Given the description of an element on the screen output the (x, y) to click on. 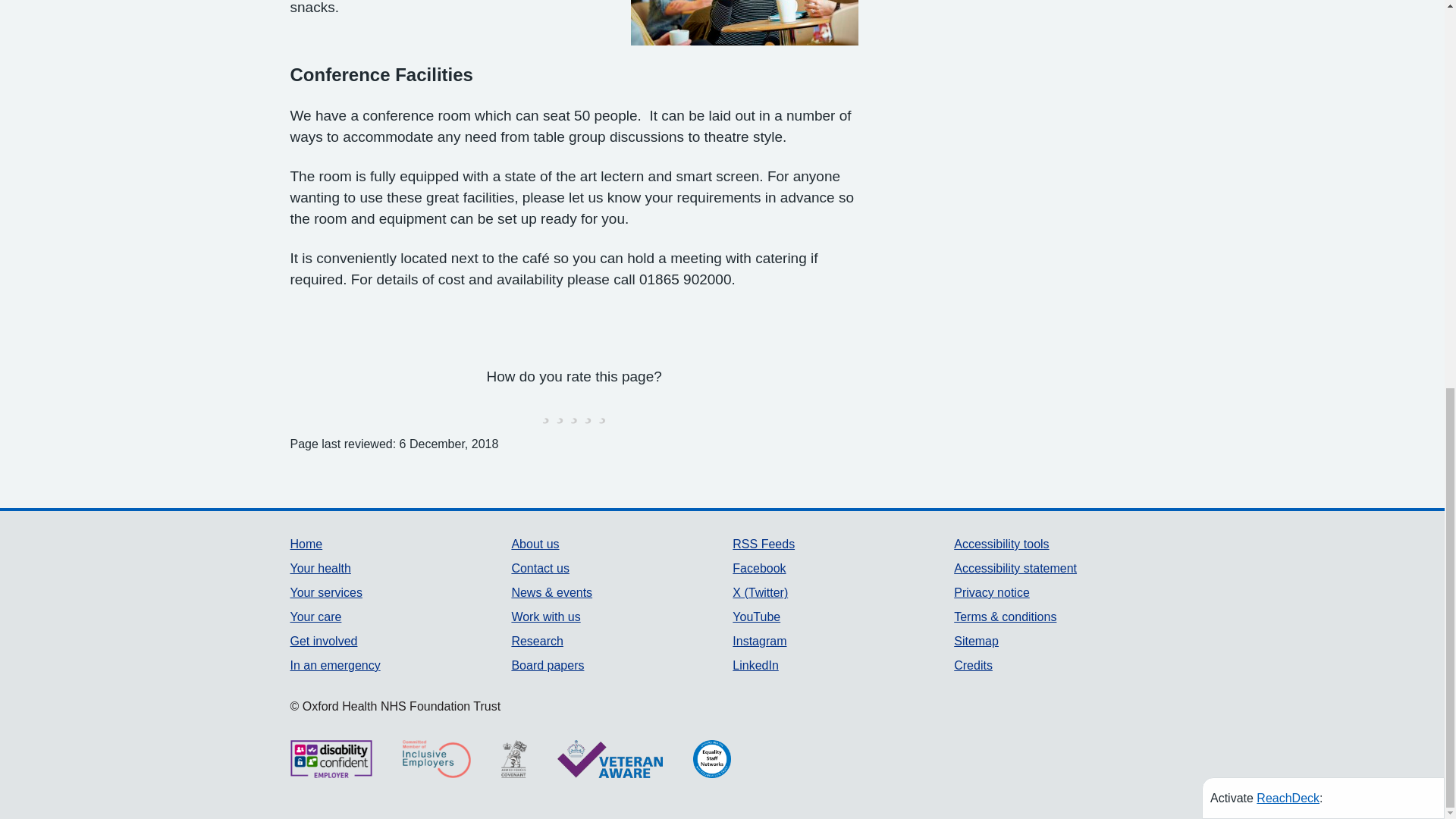
Home (305, 543)
Your care (314, 616)
Your health (319, 567)
Your services (325, 592)
